Given the description of an element on the screen output the (x, y) to click on. 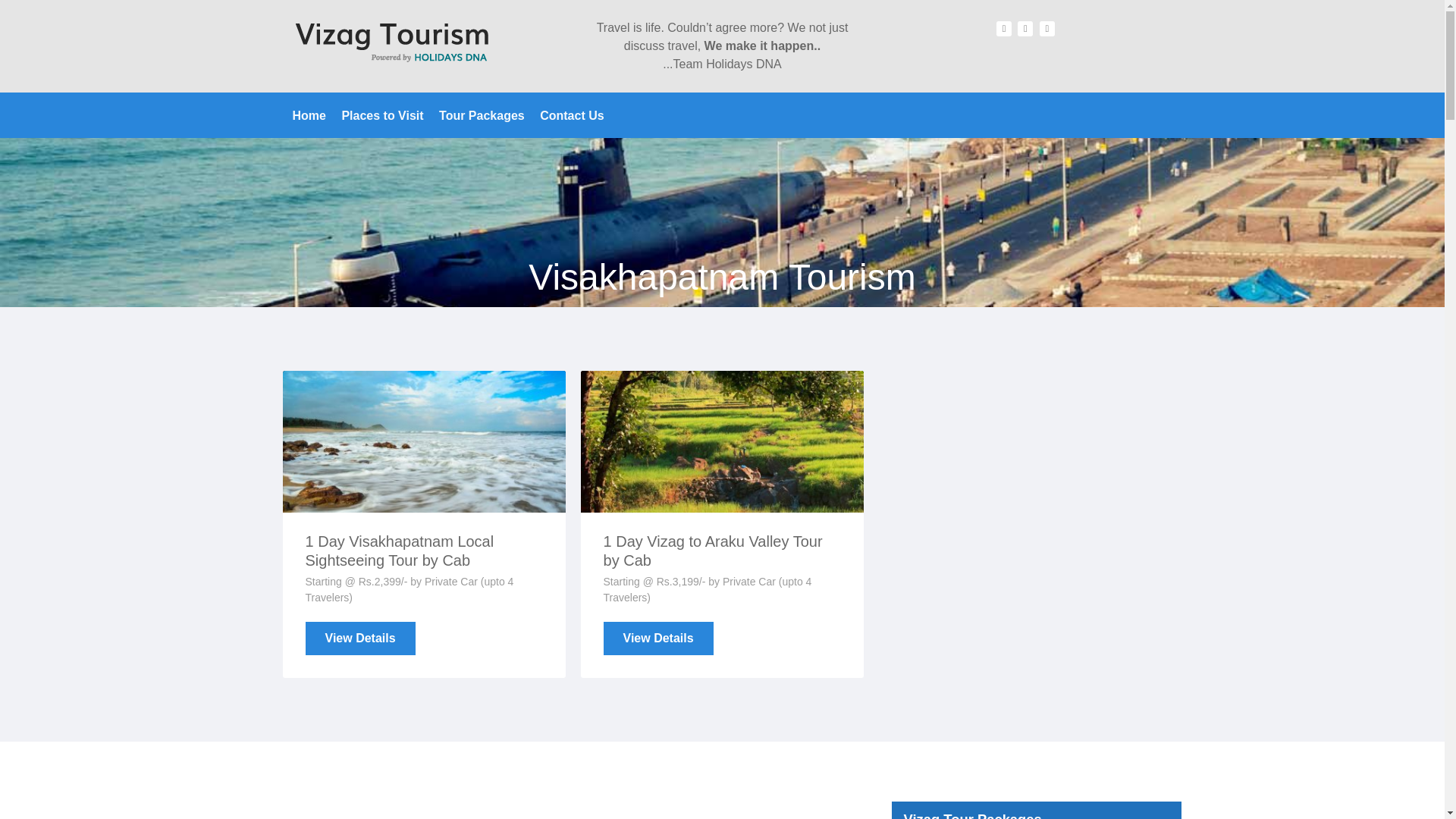
Vizag Tour Packages (481, 115)
Tour Packages (481, 115)
View Details (359, 638)
Places to Visit (381, 115)
Contact Us (572, 115)
Home (309, 115)
View Details (658, 638)
View Details (359, 638)
View Details (658, 638)
